Given the description of an element on the screen output the (x, y) to click on. 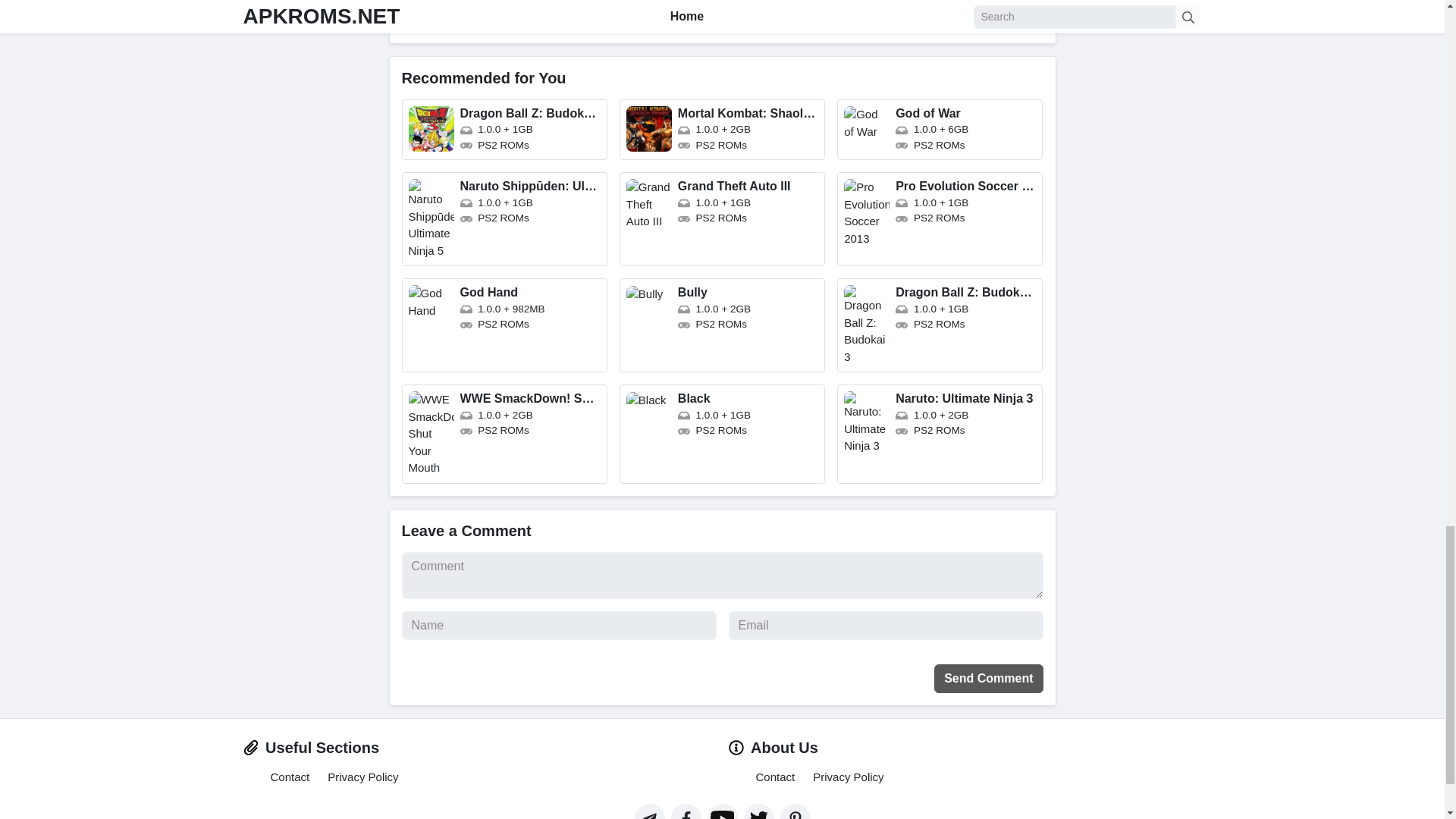
Mortal Kombat: Shaolin Monks (722, 129)
Bully (722, 325)
Send Comment (988, 678)
WWE SmackDown! Shut Your Mouth (504, 434)
God Hand (504, 325)
Privacy Policy (847, 776)
Pro Evolution Soccer 2013 (939, 218)
Contact (774, 776)
Naruto: Ultimate Ninja 3 (939, 434)
Grand Theft Auto III (722, 218)
Black (722, 434)
God of War (939, 129)
Dragon Ball Z: Budokai 3 (939, 325)
Privacy Policy (362, 776)
Contact (288, 776)
